Given the description of an element on the screen output the (x, y) to click on. 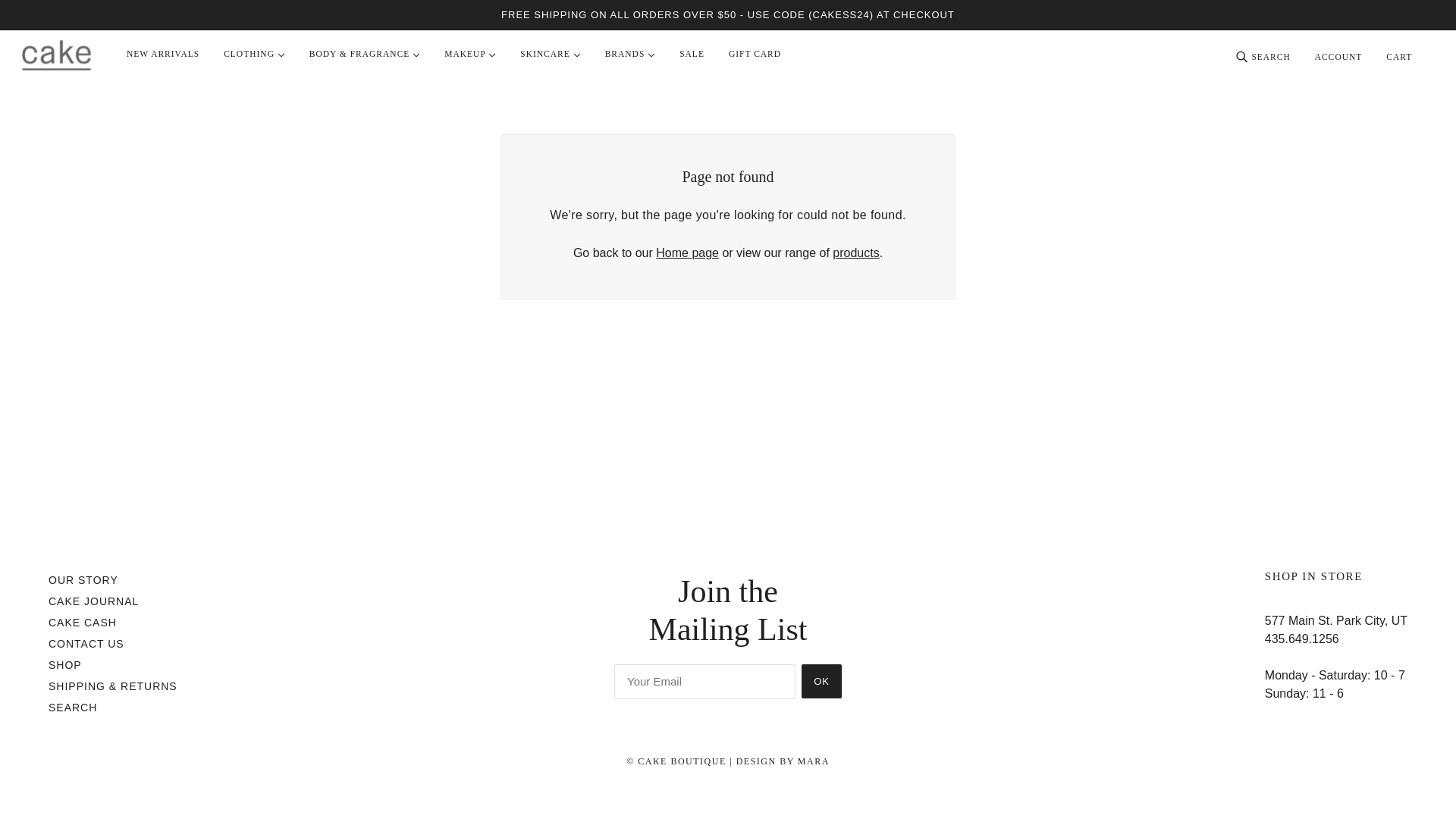
CLOTHING (254, 53)
MAKEUP (470, 53)
NEW ARRIVALS (163, 53)
CAKE CASH (82, 622)
Cake Journal (93, 601)
Shop (64, 664)
Our Story (82, 580)
Search (72, 707)
Contact Us (85, 644)
cake (56, 54)
